Given the description of an element on the screen output the (x, y) to click on. 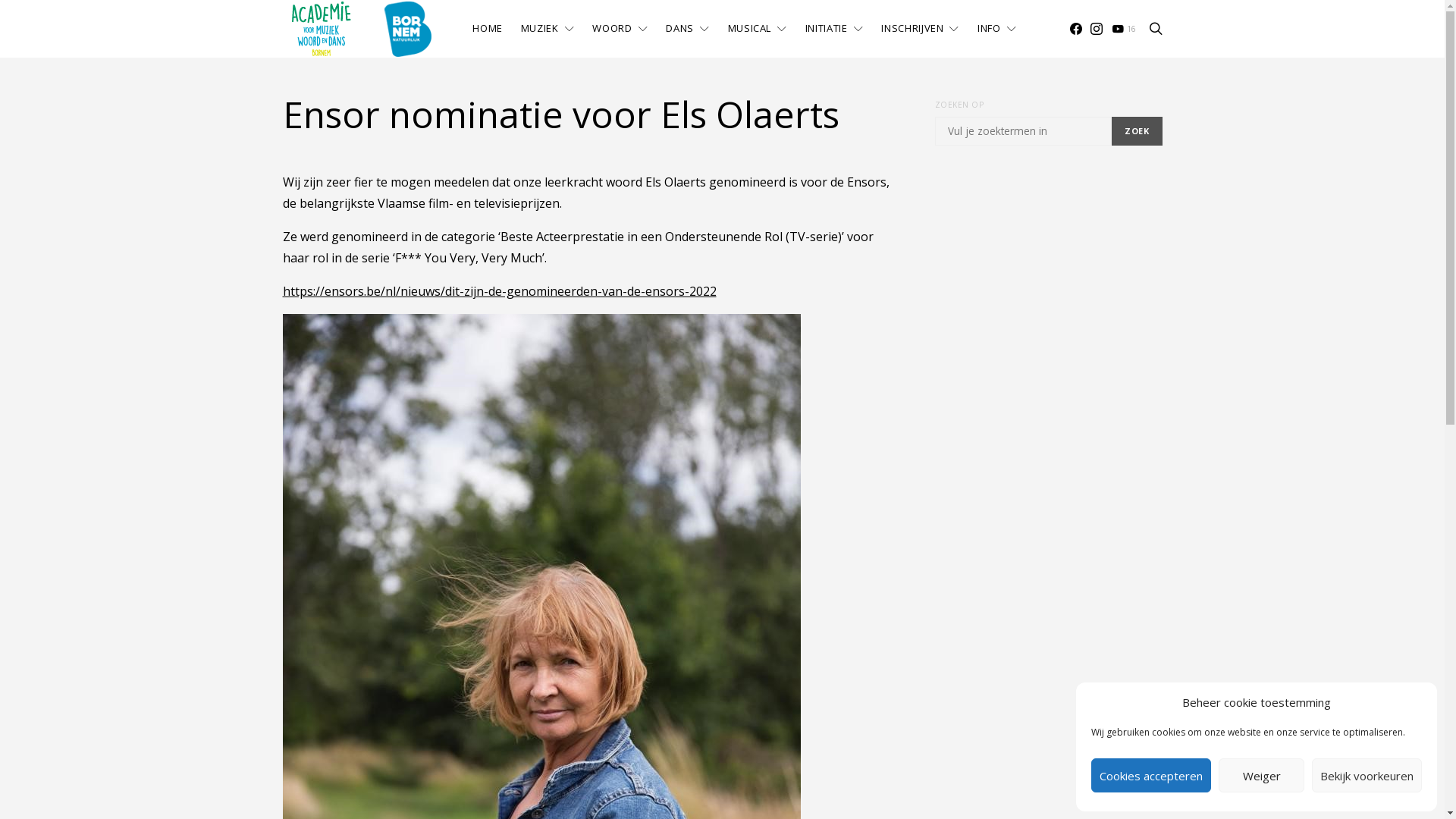
Cookies accepteren Element type: text (1151, 775)
WOORD Element type: text (619, 28)
INITIATIE Element type: text (834, 28)
ZOEK Element type: text (1136, 130)
MUZIEK Element type: text (547, 28)
Bekijk voorkeuren Element type: text (1366, 775)
INSCHRIJVEN Element type: text (920, 28)
DANS Element type: text (687, 28)
HOME Element type: text (487, 28)
16 Element type: text (1123, 28)
Weiger Element type: text (1261, 775)
MUSICAL Element type: text (757, 28)
INFO Element type: text (996, 28)
